Given the description of an element on the screen output the (x, y) to click on. 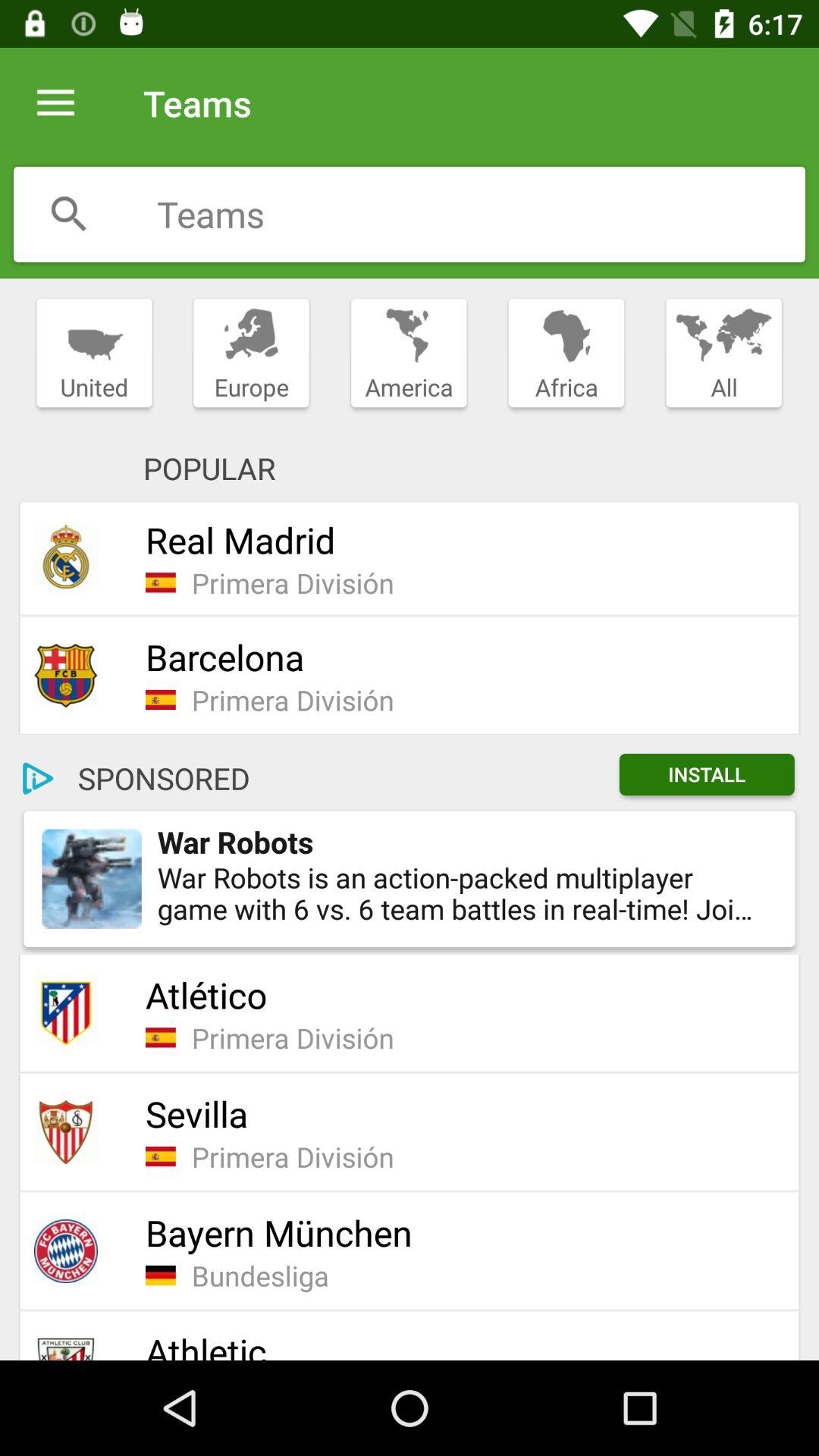
search teams field (480, 214)
